Given the description of an element on the screen output the (x, y) to click on. 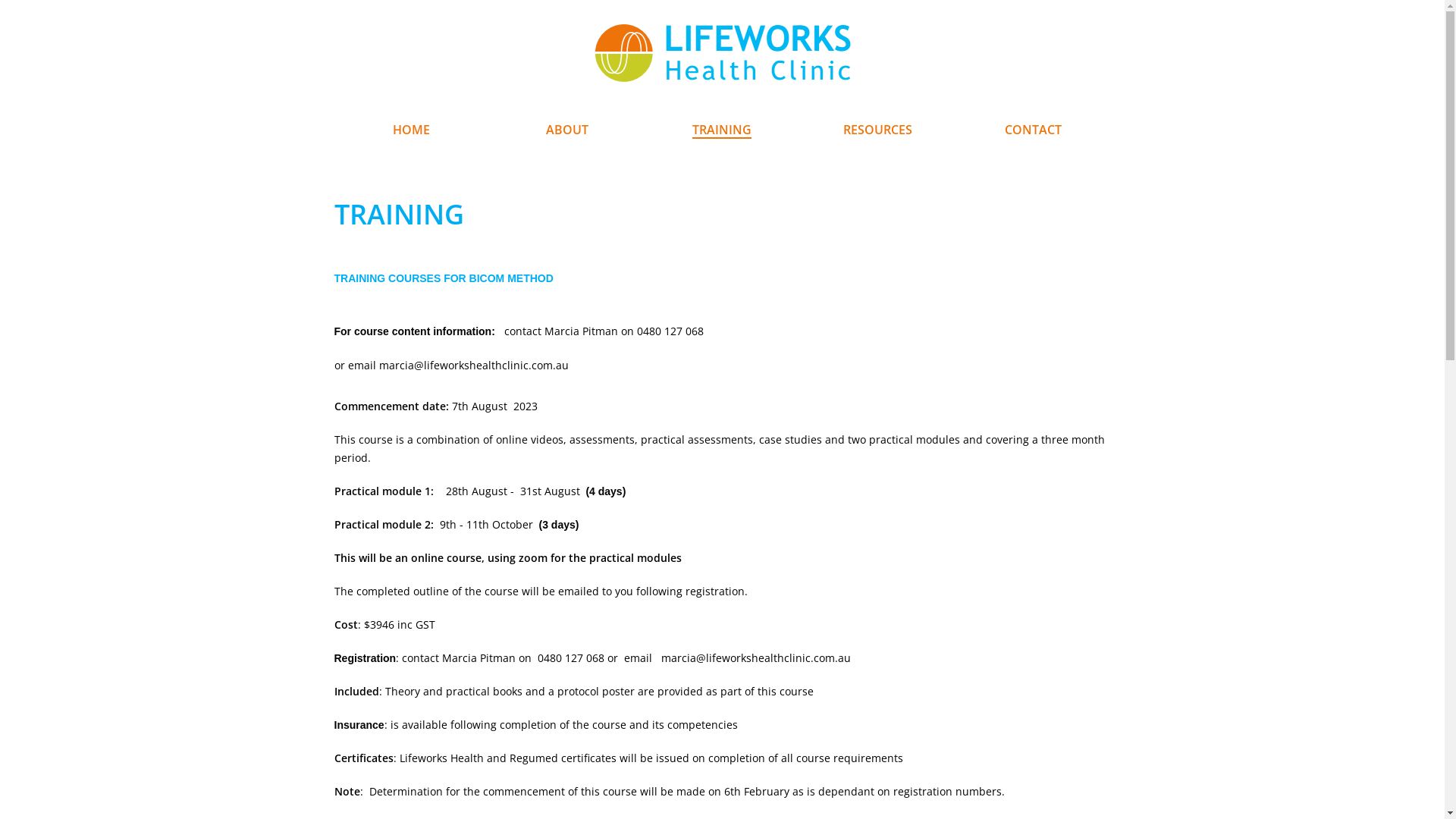
HOME Element type: text (410, 130)
RESOURCES Element type: text (877, 130)
TRAINING Element type: text (721, 130)
CONTACT Element type: text (1032, 130)
ABOUT Element type: text (567, 130)
